Given the description of an element on the screen output the (x, y) to click on. 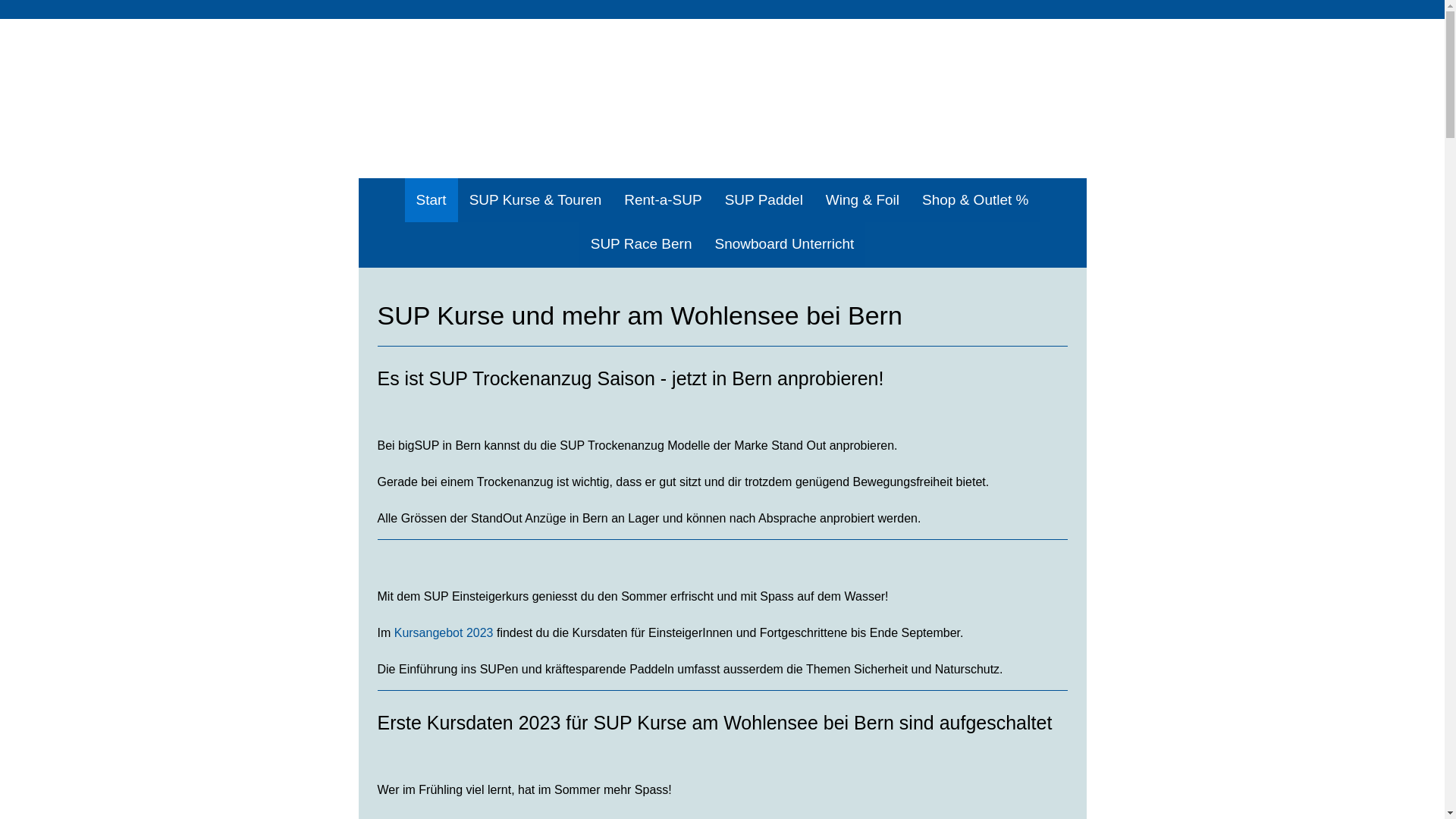
Rent-a-SUP Element type: text (662, 200)
Wing & Foil Element type: text (862, 200)
SUP Kurse & Touren Element type: text (535, 200)
Snowboard Unterricht Element type: text (784, 244)
SUP Paddel Element type: text (763, 200)
Shop & Outlet % Element type: text (974, 200)
Kursangebot 2023 Element type: text (443, 632)
SUP Race Bern Element type: text (641, 244)
Start Element type: text (431, 200)
